Given the description of an element on the screen output the (x, y) to click on. 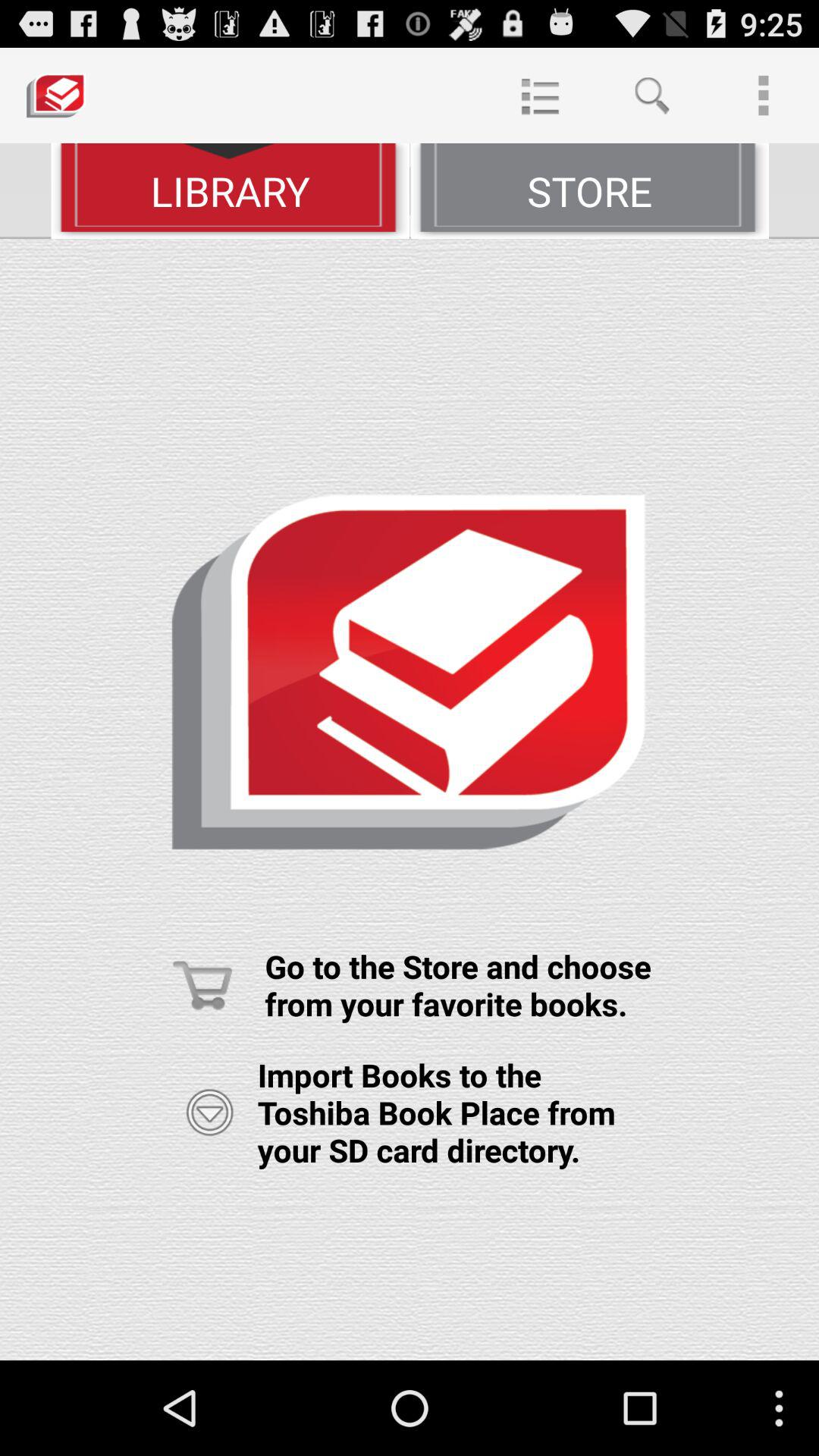
import option (209, 1112)
